Given the description of an element on the screen output the (x, y) to click on. 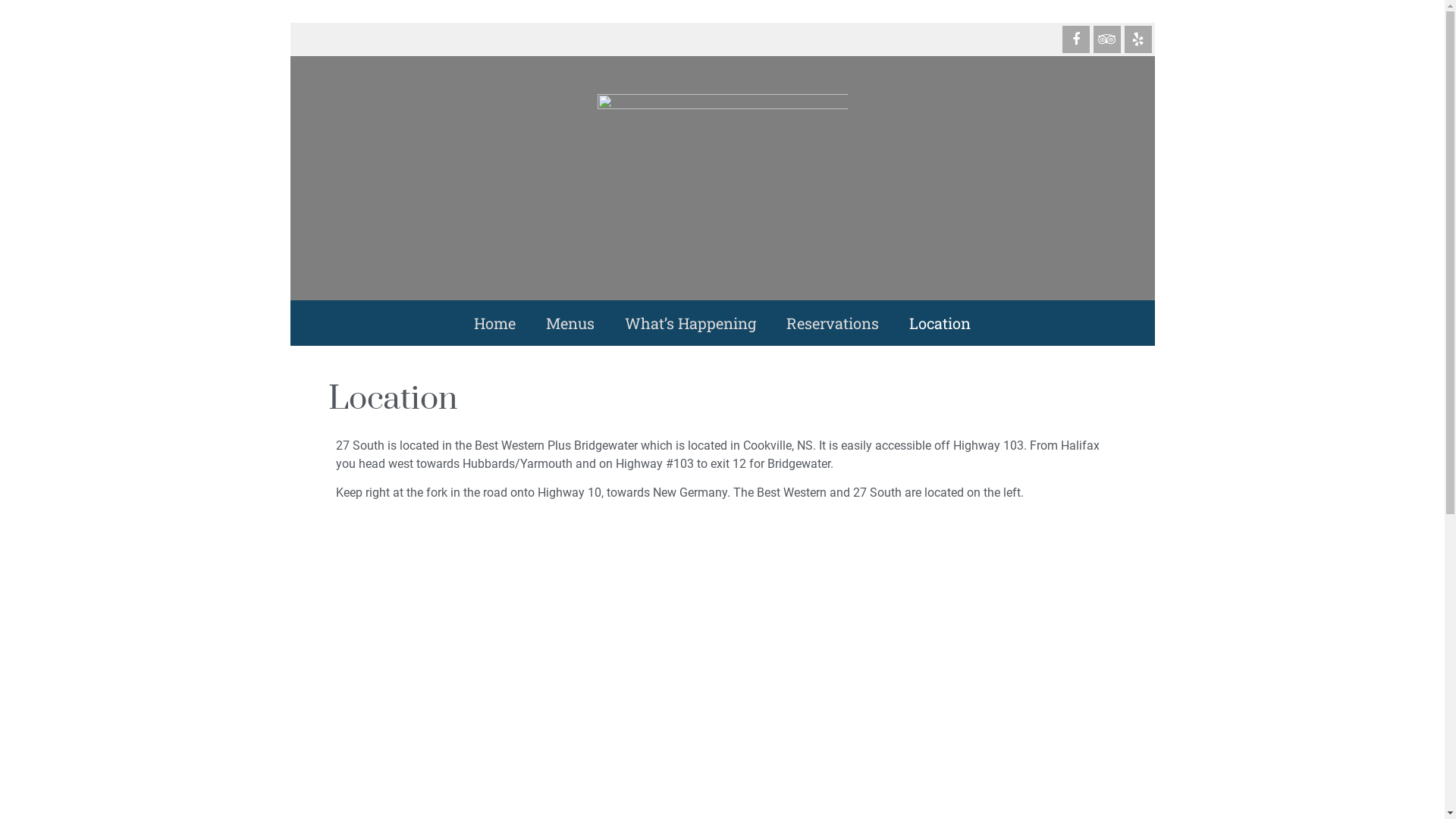
Reservations Element type: text (832, 322)
Home Element type: text (494, 322)
Menus Element type: text (569, 322)
Location Element type: text (939, 322)
